Given the description of an element on the screen output the (x, y) to click on. 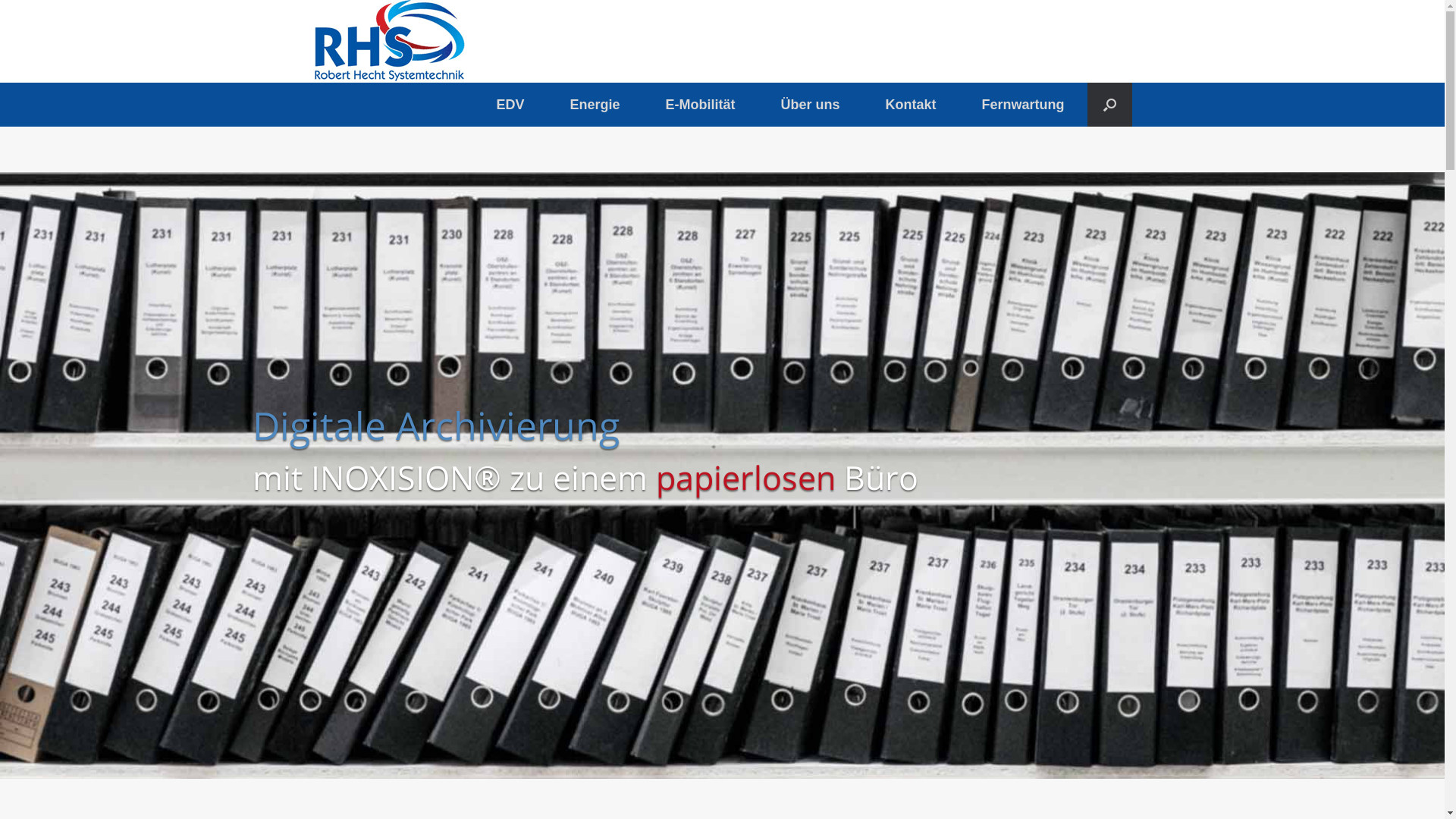
Energie Element type: text (594, 104)
EDV Element type: text (509, 104)
Robert Hecht Systemtechnik in Meitingen-Waltershofen Element type: hover (388, 41)
Kontakt Element type: text (910, 104)
Fernwartung Element type: text (1022, 104)
